Given the description of an element on the screen output the (x, y) to click on. 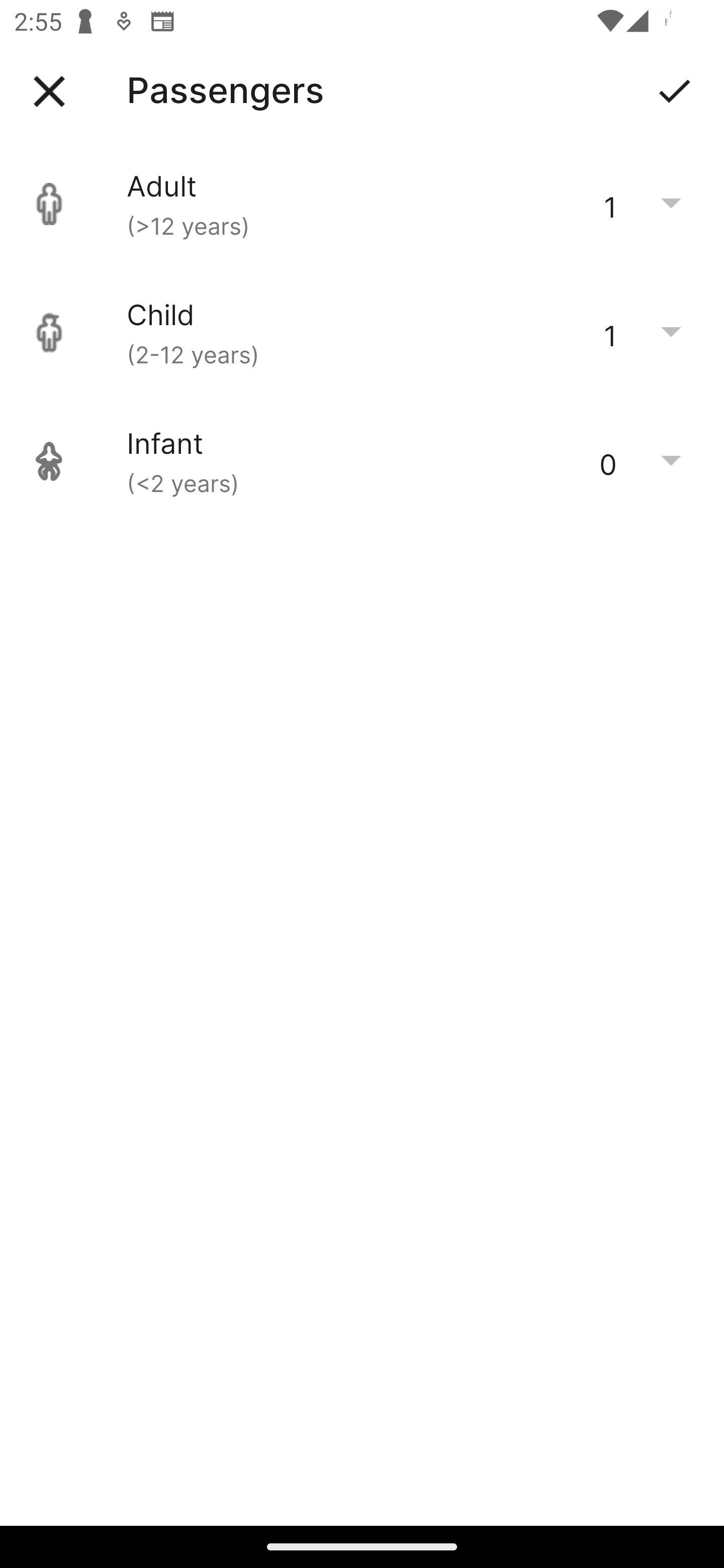
Adult (>12 years) 1 (362, 204)
Child (2-12 years) 1 (362, 332)
Infant (<2 years) 0 (362, 461)
